Given the description of an element on the screen output the (x, y) to click on. 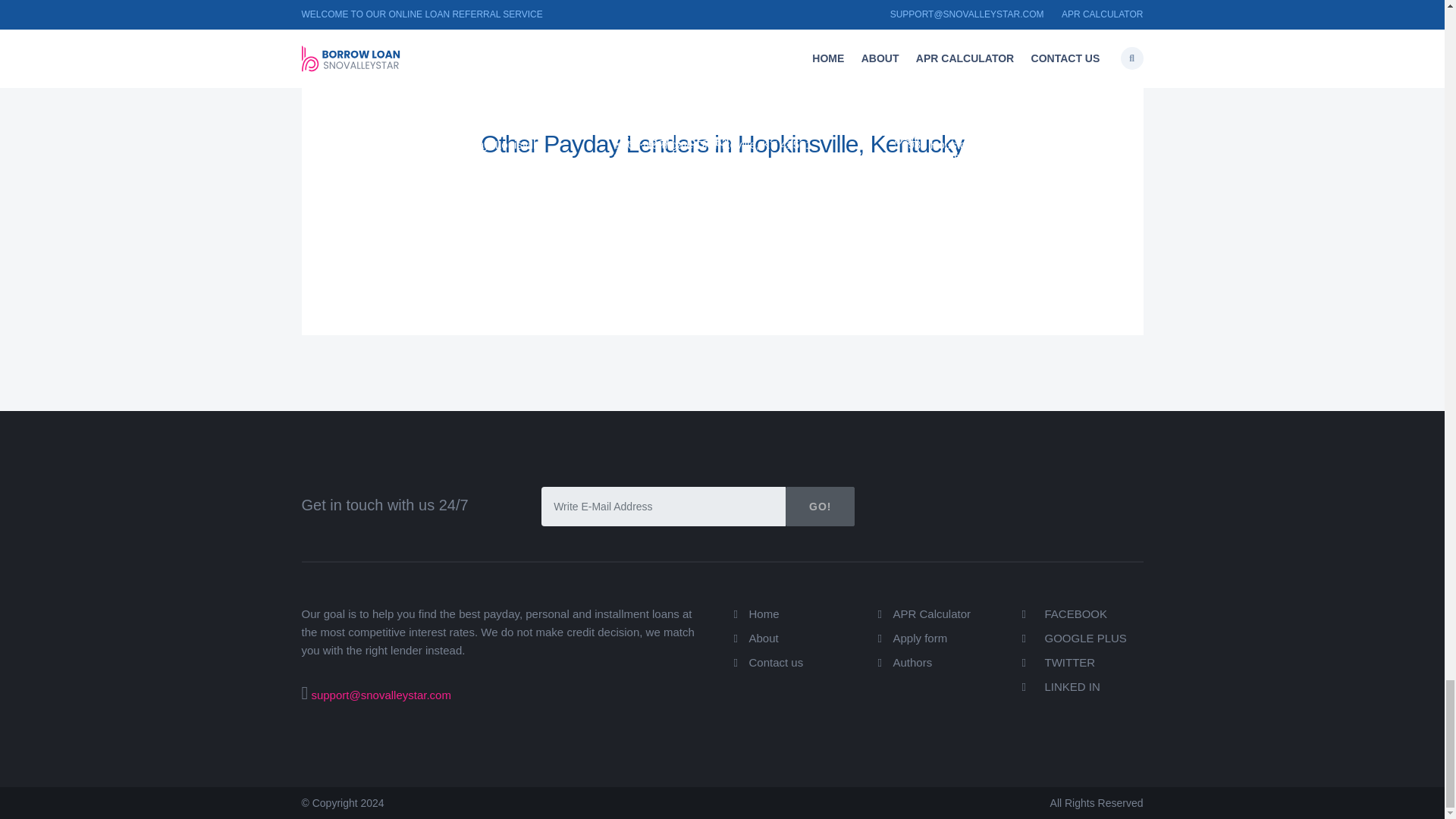
Autotruck Financial Credit Union (419, 106)
First State Bank (666, 94)
U.S. Bank Branch (672, 139)
U.S. Bank Branch (393, 139)
Home (763, 613)
Community Trust Bank (689, 117)
Contact us (776, 662)
Corbin Financial Services (979, 176)
GO! (820, 506)
About (763, 637)
Huntington Bank (949, 117)
